Given the description of an element on the screen output the (x, y) to click on. 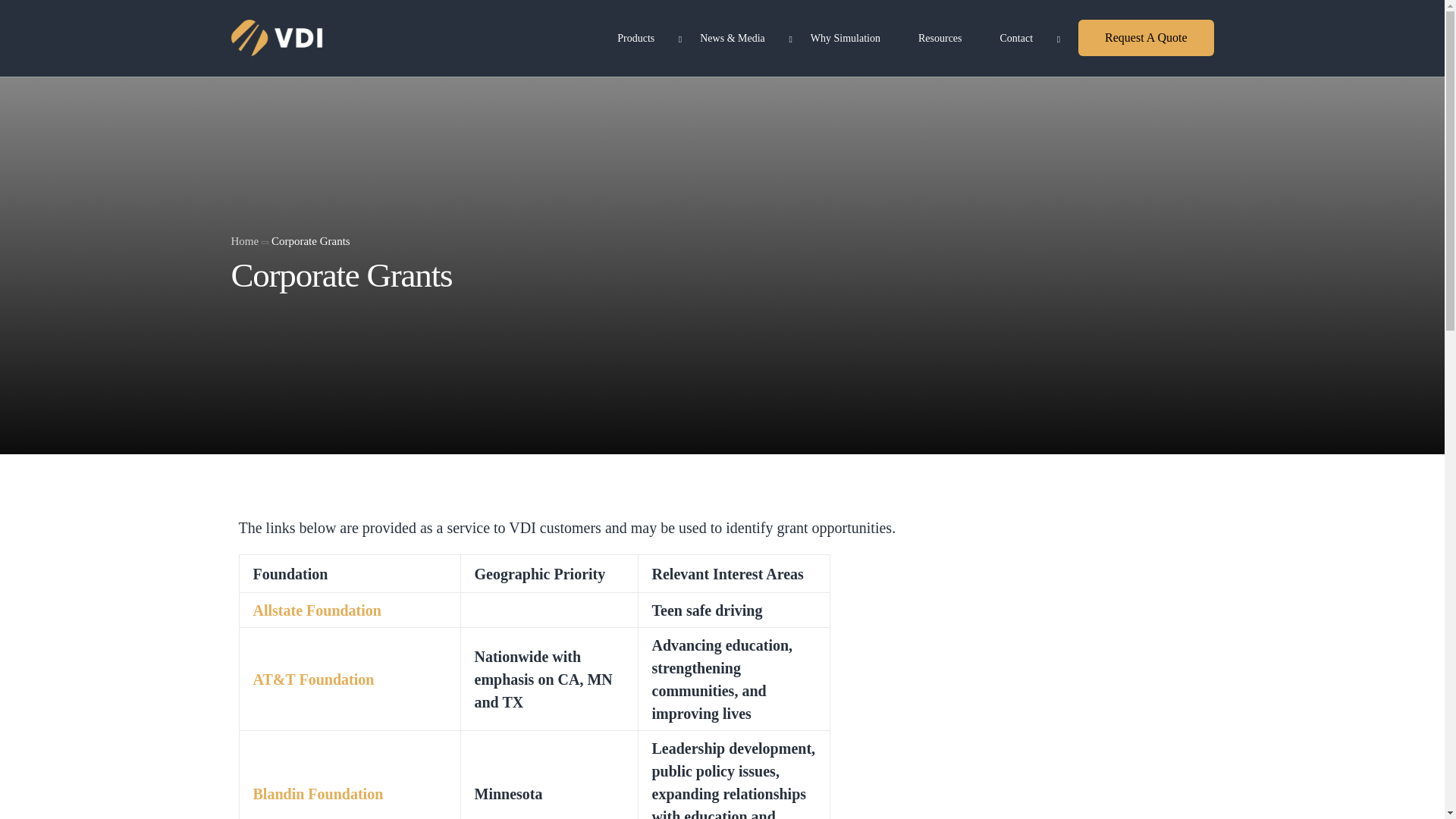
Home (244, 245)
Allstate Foundation (317, 610)
Blandin Foundation (318, 793)
Contact (1020, 38)
Why Simulation (845, 38)
Resources (940, 38)
Request A Quote (1145, 37)
